Given the description of an element on the screen output the (x, y) to click on. 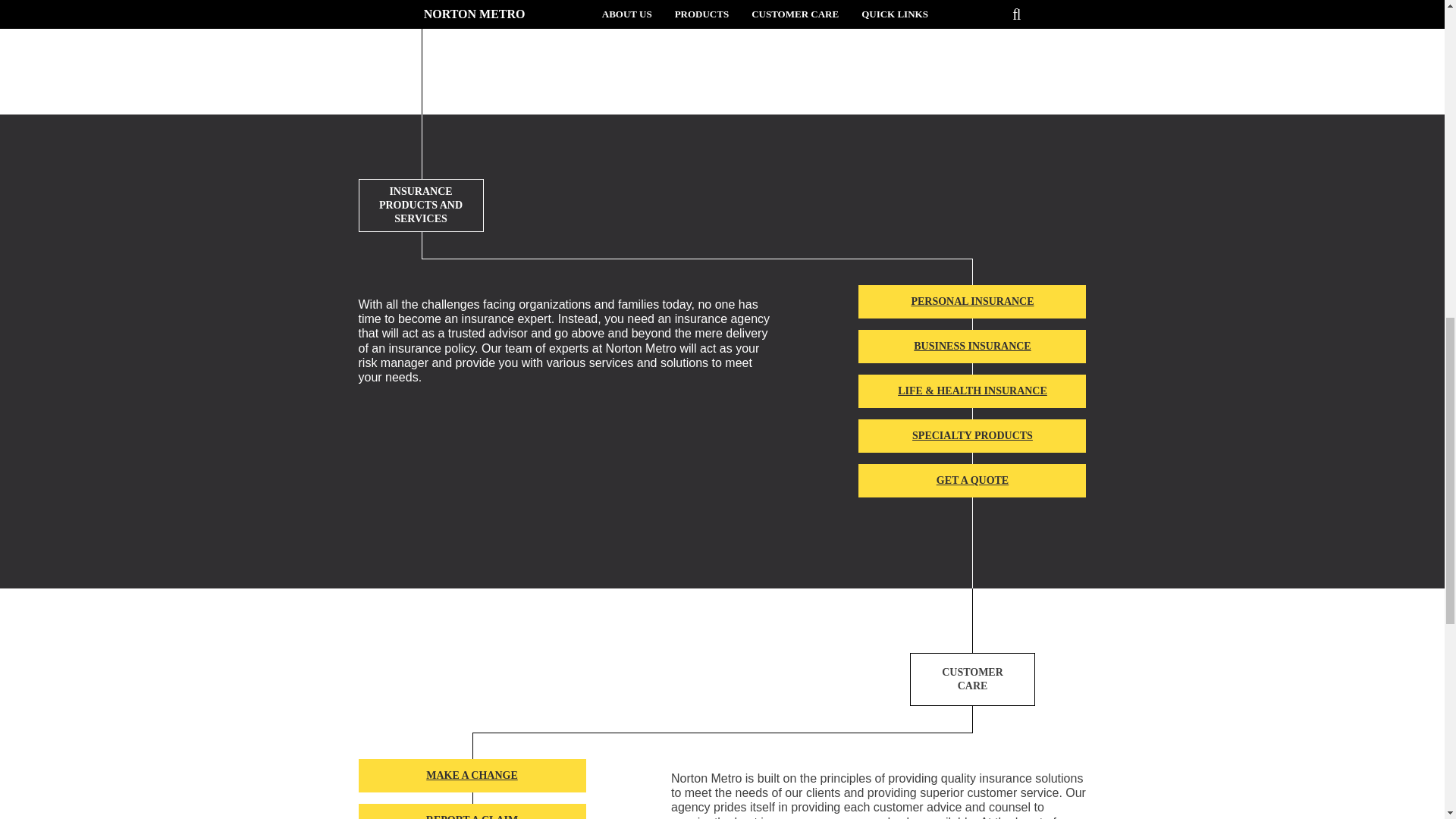
PERSONAL INSURANCE (972, 301)
MAKE A CHANGE (471, 775)
SPECIALTY PRODUCTS (972, 435)
GET A QUOTE (972, 480)
REPORT A CLAIM (471, 811)
BUSINESS INSURANCE (972, 346)
